Given the description of an element on the screen output the (x, y) to click on. 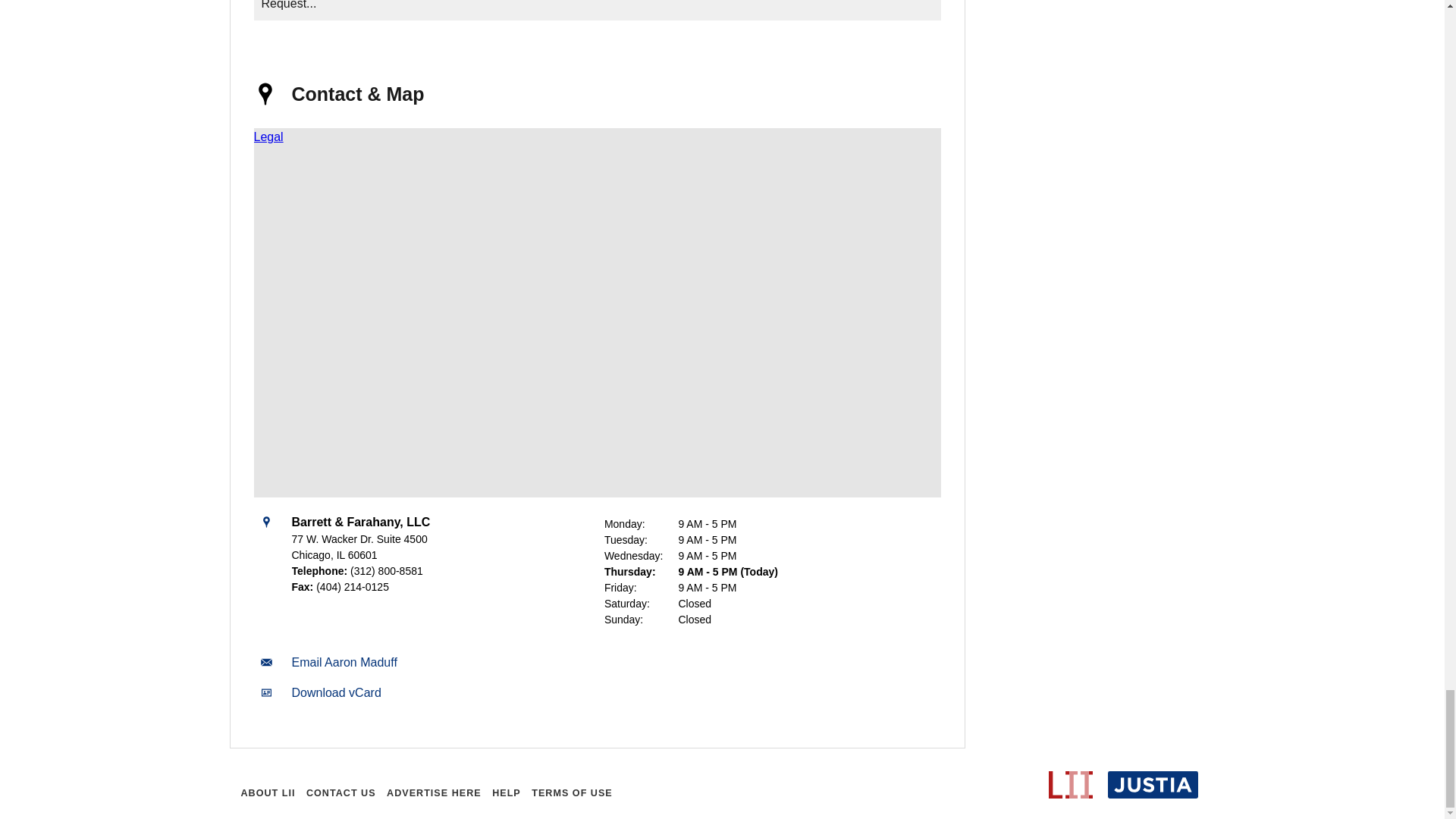
Download vCard (335, 692)
ABOUT LII (266, 792)
Email Aaron Maduff (343, 662)
